Given the description of an element on the screen output the (x, y) to click on. 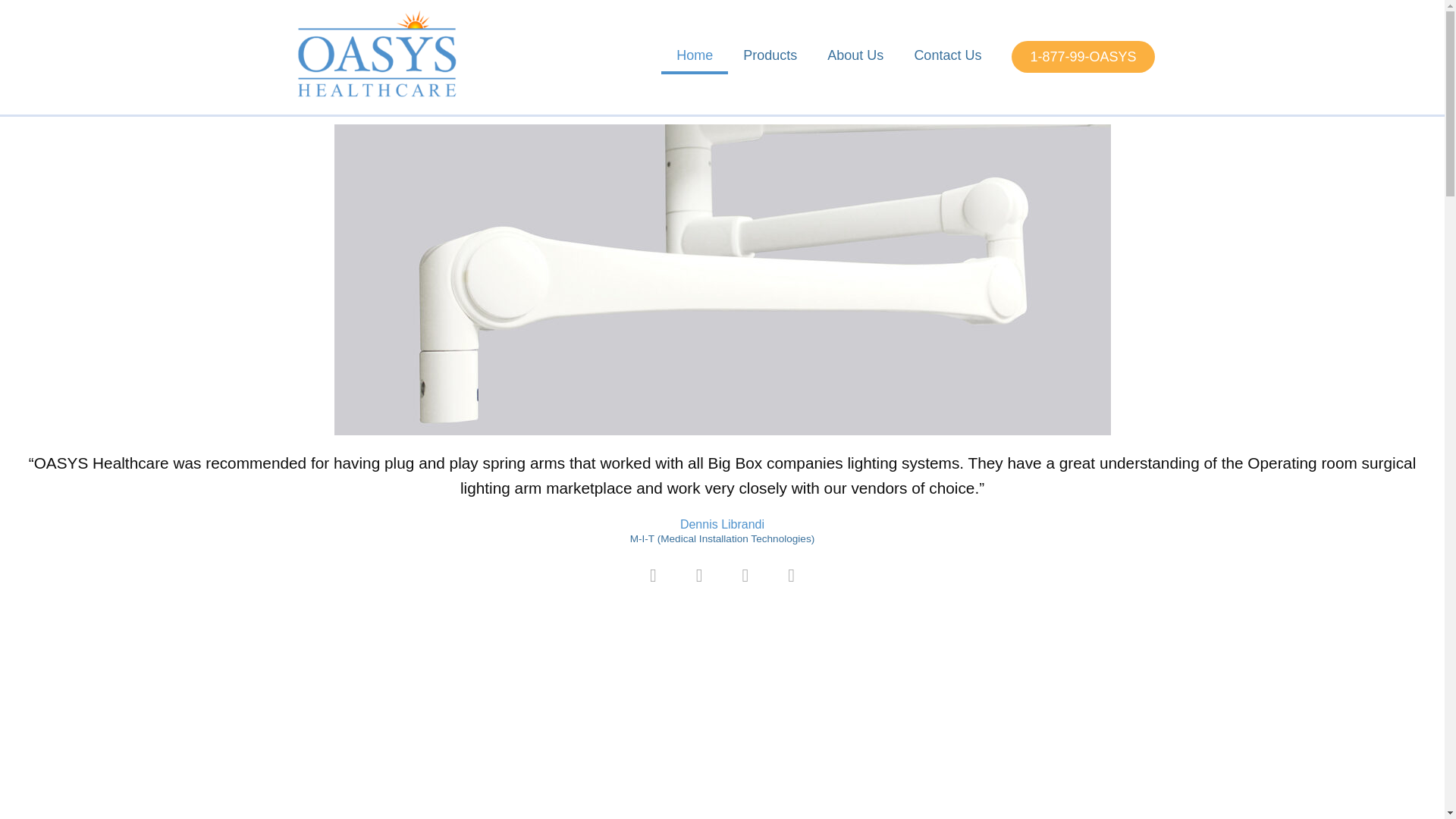
About Us (855, 55)
Products (770, 55)
Home (694, 57)
Contact Us (946, 55)
